Given the description of an element on the screen output the (x, y) to click on. 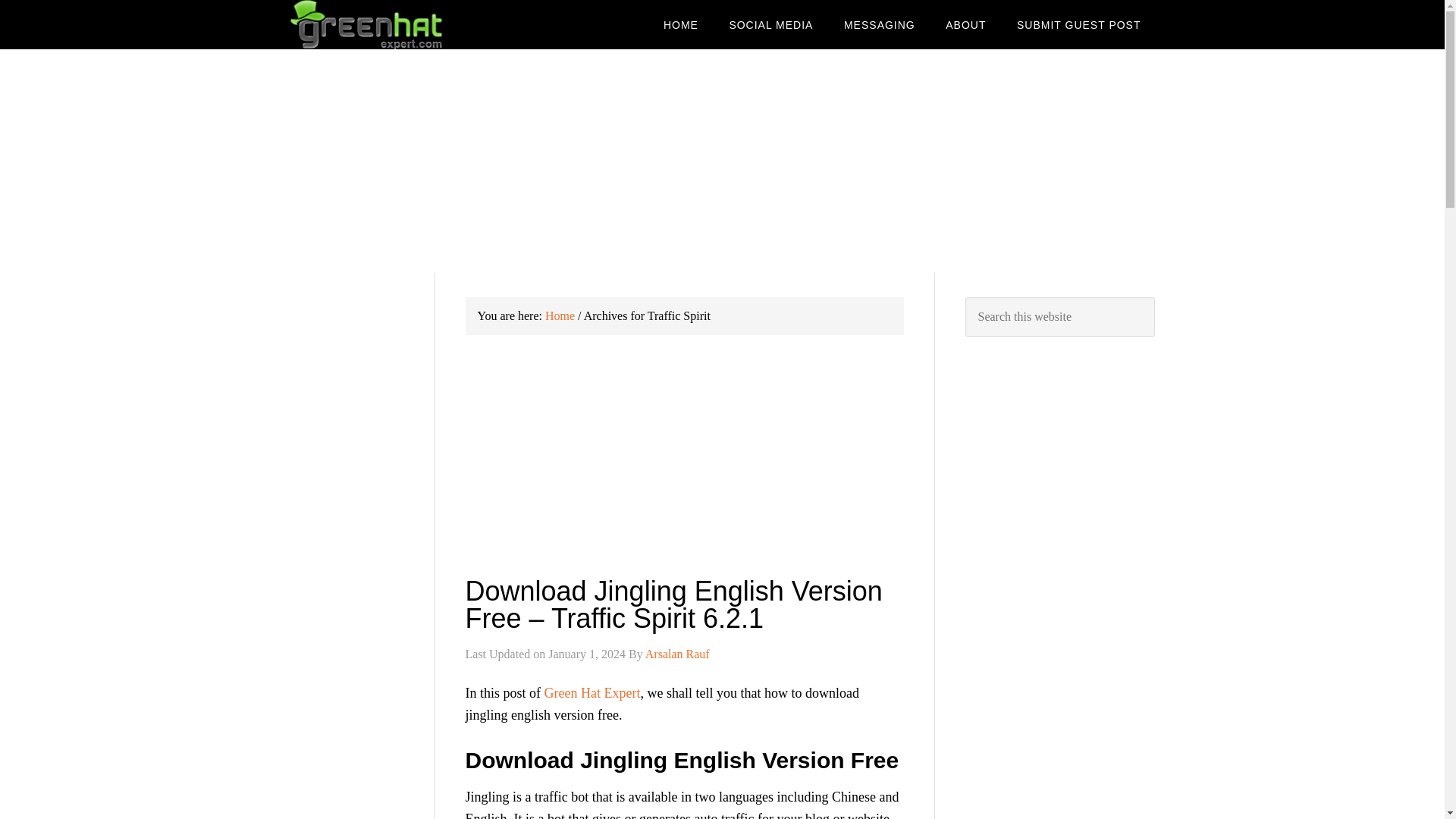
Advertisement (346, 814)
Advertisement (684, 465)
ABOUT (964, 24)
SOCIAL MEDIA (770, 24)
Home (559, 315)
SUBMIT GUEST POST (1078, 24)
HOME (680, 24)
MESSAGING (878, 24)
Green Hat Expert (592, 693)
GREEN HAT EXPERT (410, 24)
Arsalan Rauf (677, 653)
